Given the description of an element on the screen output the (x, y) to click on. 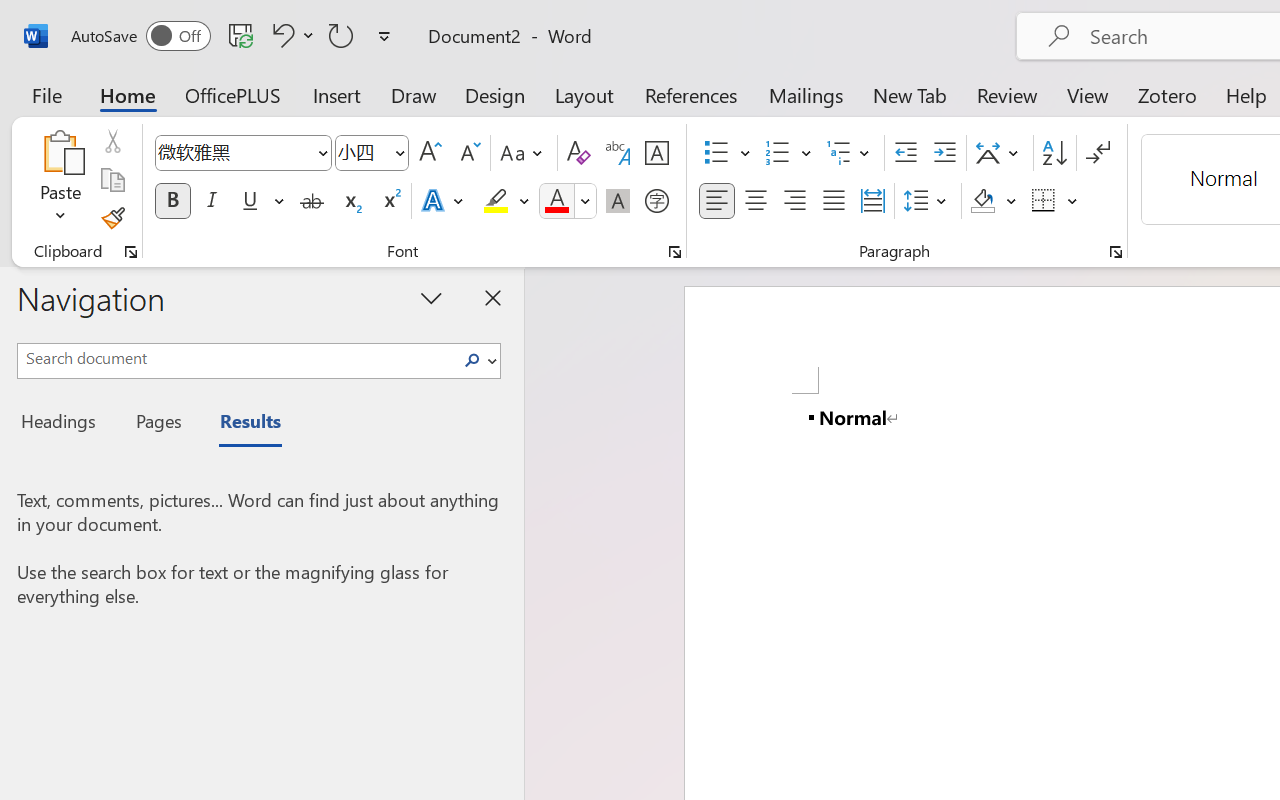
Save (241, 35)
Quick Access Toolbar (233, 36)
Align Right (794, 201)
Underline (250, 201)
Character Border (656, 153)
Zotero (1166, 94)
Headings (64, 424)
Text Highlight Color Yellow (495, 201)
Class: NetUIImage (471, 360)
Repeat Text Fill Effect (341, 35)
Search document (236, 358)
Numbering (778, 153)
Justify (834, 201)
Change Case (524, 153)
